Given the description of an element on the screen output the (x, y) to click on. 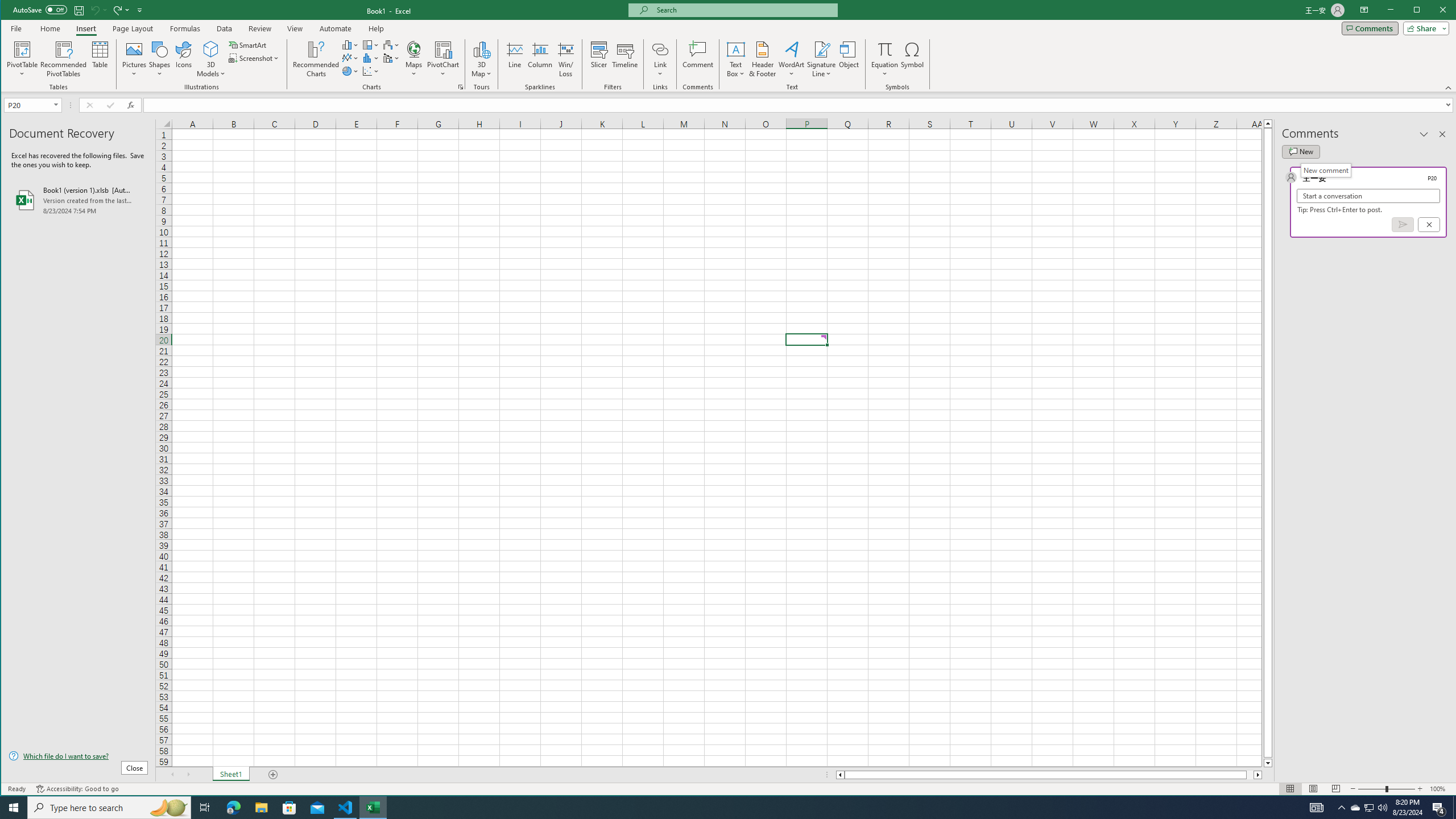
User Promoted Notification Area (1368, 807)
Text Box (735, 59)
AutomationID: 4105 (1316, 807)
Visual Studio Code - 1 running window (345, 807)
Symbol... (912, 59)
Close pane (1441, 133)
Redo (116, 9)
Page Break Preview (1335, 788)
Redo (120, 9)
Insert (85, 28)
Page Layout (132, 28)
Insert Statistic Chart (371, 57)
Customize Quick Access Toolbar (140, 9)
Cancel (1428, 224)
